Given the description of an element on the screen output the (x, y) to click on. 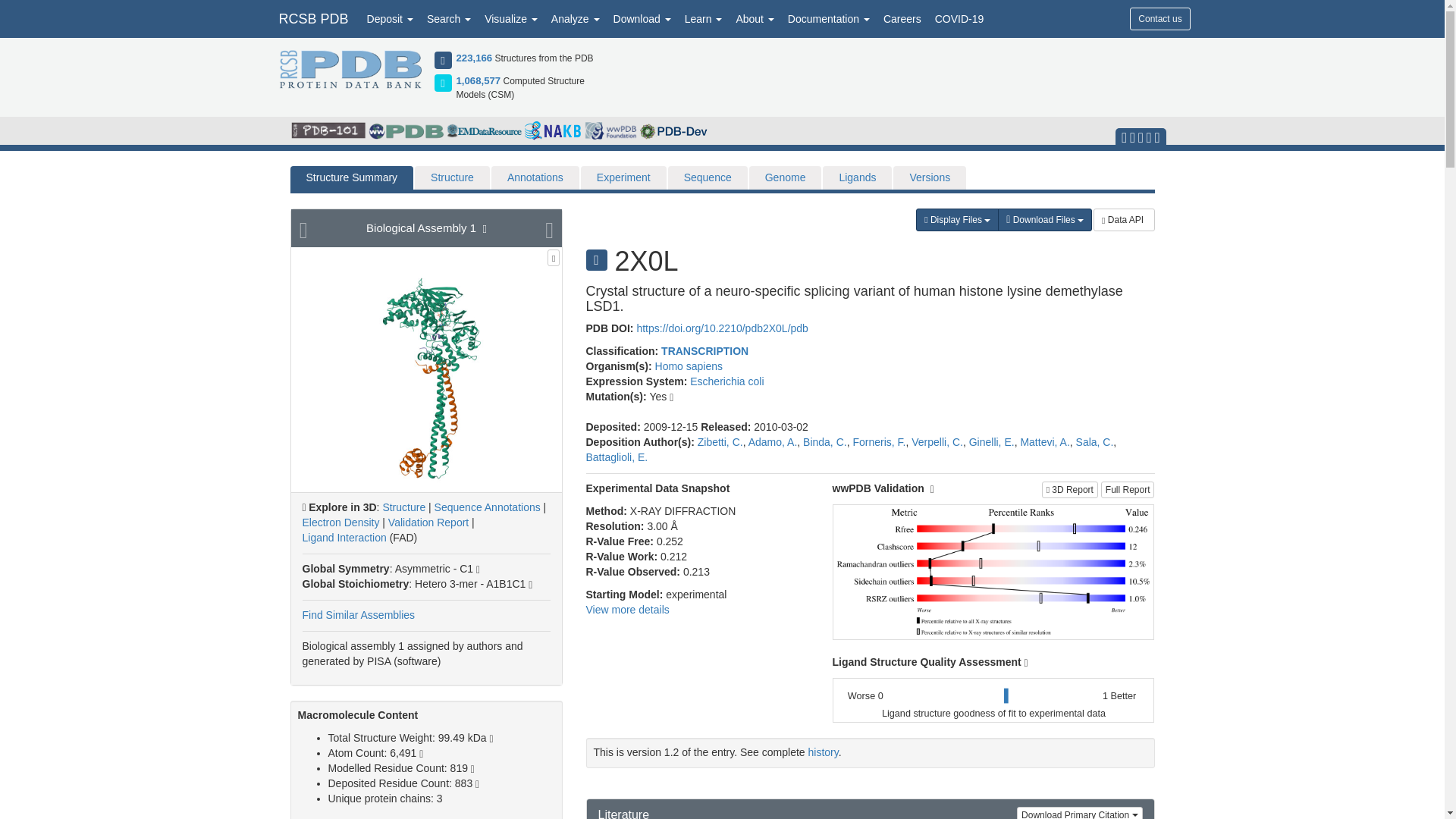
Analyze  (575, 18)
RCSB PDB (312, 18)
Search  (448, 18)
Visualize  (510, 18)
Deposit  (389, 18)
